Given the description of an element on the screen output the (x, y) to click on. 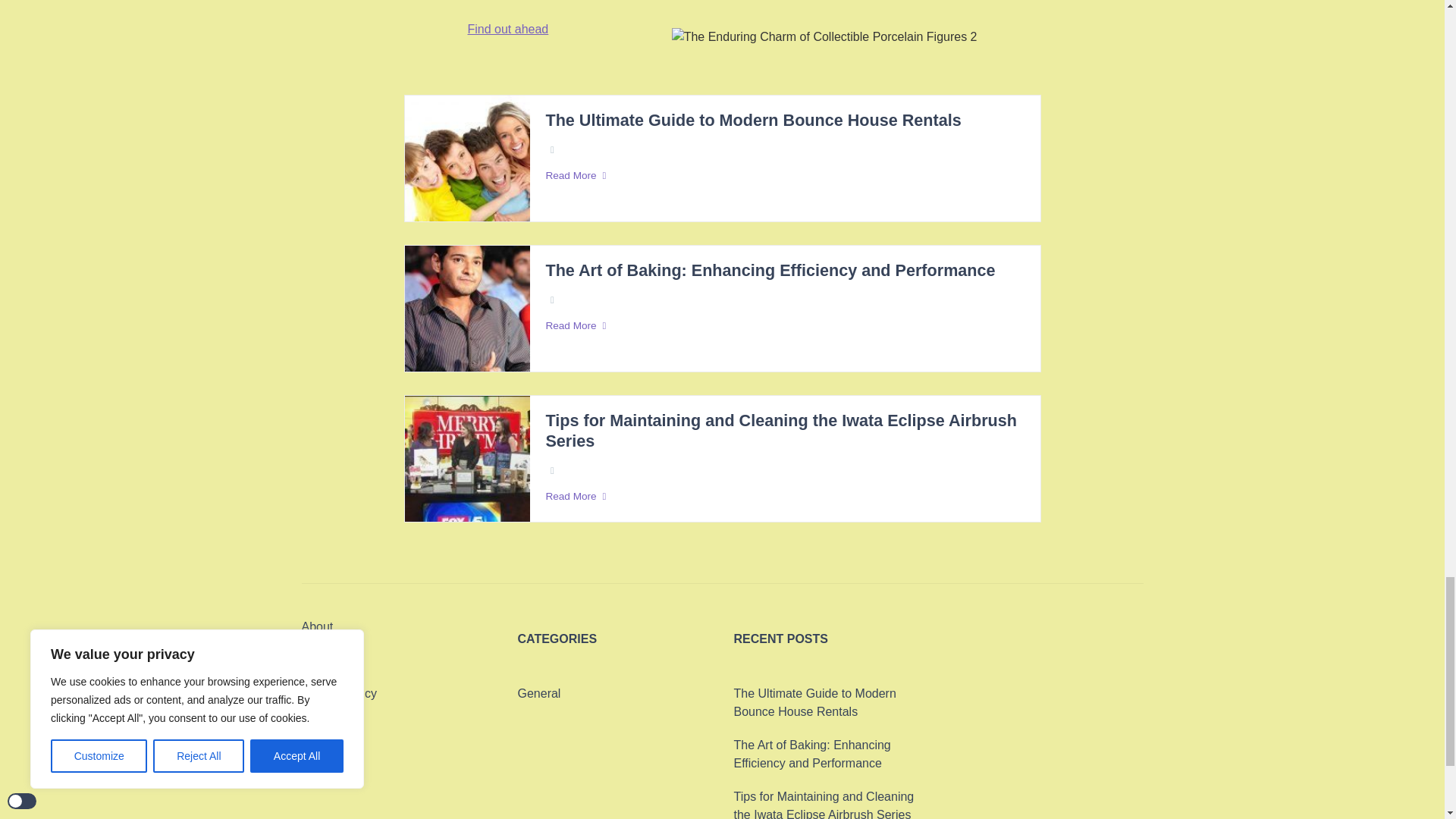
Find out ahead (507, 29)
Discover this interesting article (549, 1)
The Art of Baking: Enhancing Efficiency and Performance (769, 271)
Read More (784, 325)
Read More (784, 175)
The Ultimate Guide to Modern Bounce House Rentals (752, 120)
